Given the description of an element on the screen output the (x, y) to click on. 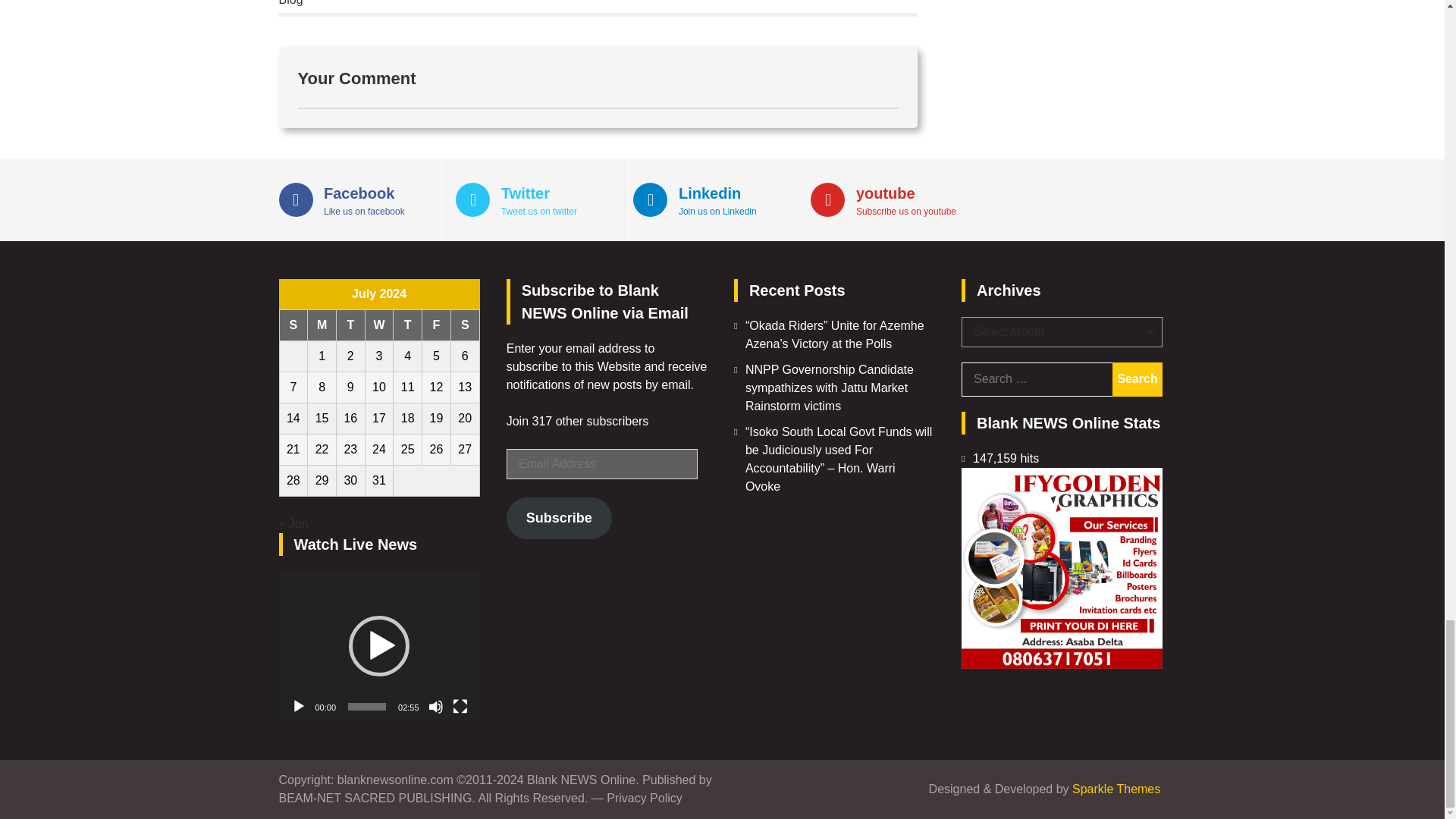
Search (1136, 379)
Search (1136, 379)
